Given the description of an element on the screen output the (x, y) to click on. 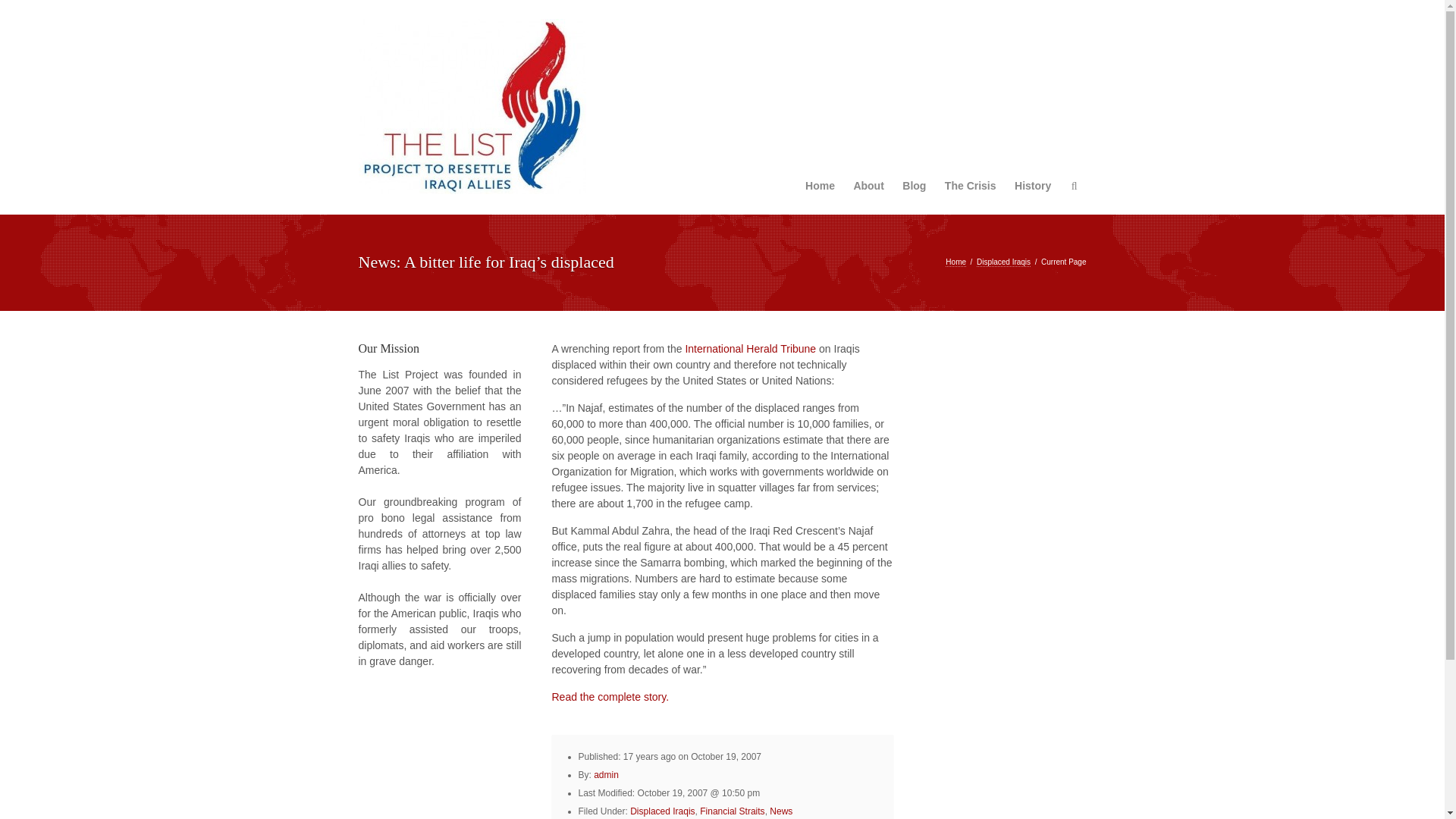
History (1032, 186)
The Crisis (970, 186)
Read the complete story. (610, 696)
Posts by admin (606, 774)
International Herald Tribune (749, 348)
Home (955, 261)
Displaced Iraqis (662, 810)
Displaced Iraqis (1003, 261)
admin (606, 774)
